Given the description of an element on the screen output the (x, y) to click on. 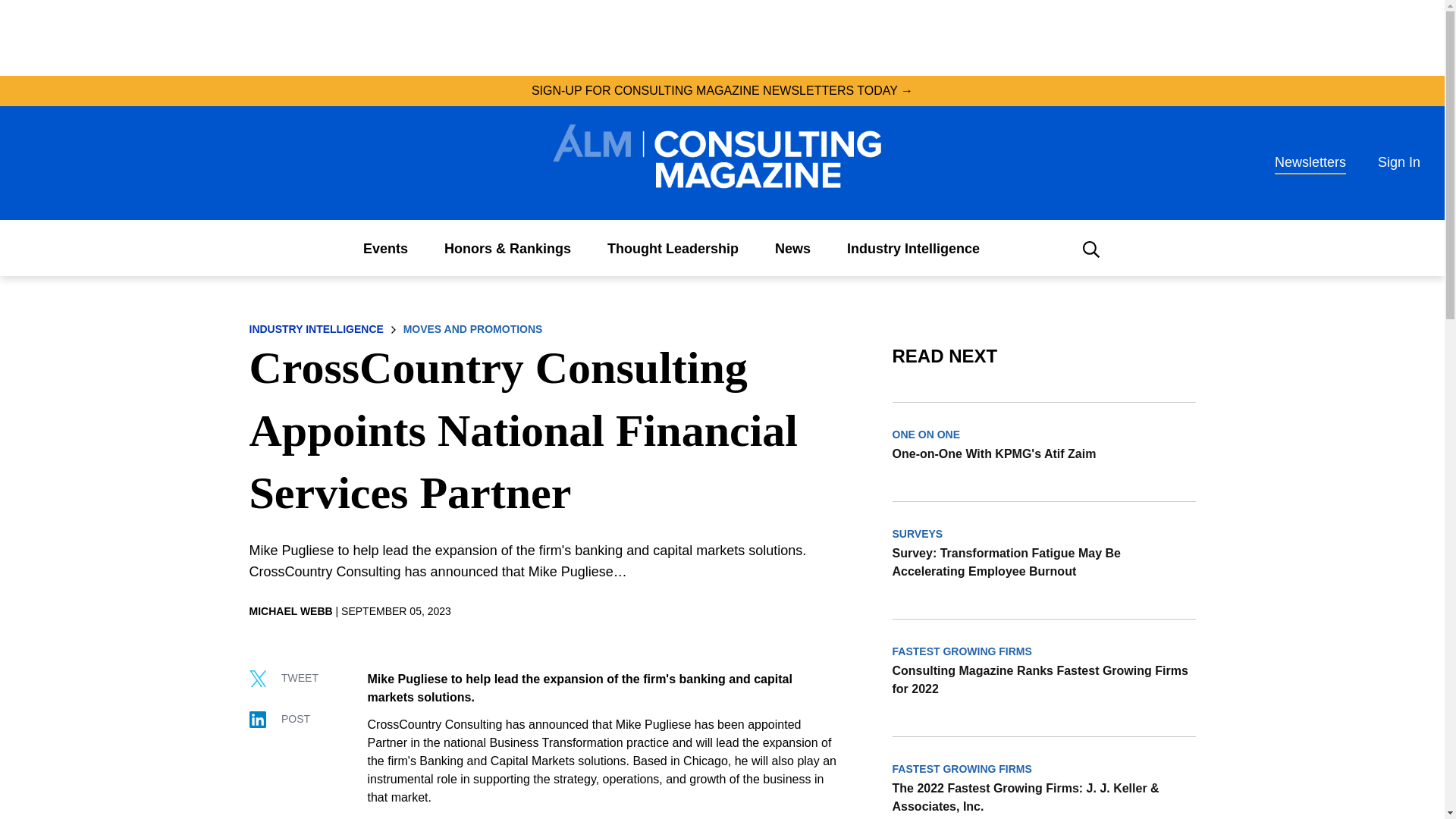
MOVES AND PROMOTIONS (473, 328)
ONE ON ONE (925, 434)
Newsletters (1310, 162)
SURVEYS (917, 533)
Industry Intelligence (912, 249)
FASTEST GROWING FIRMS (962, 768)
Consulting Magazine Ranks Fastest Growing Firms for 2022 (1043, 679)
Sign In (1399, 161)
POST (288, 717)
INDUSTRY INTELLIGENCE (316, 328)
